Given the description of an element on the screen output the (x, y) to click on. 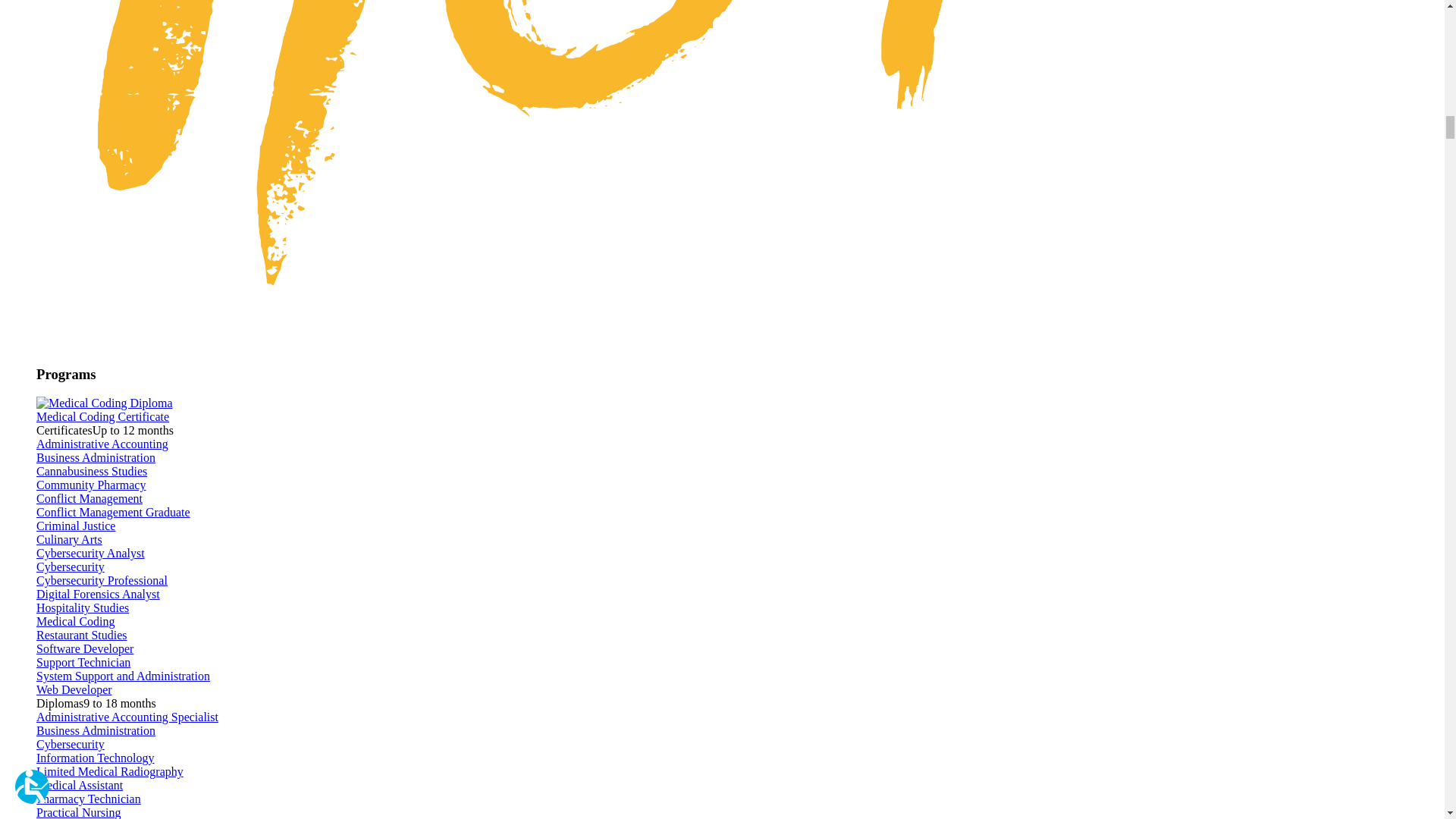
Cybersecurity Analyst Certificate (90, 553)
Business Administration (95, 730)
Culinary Arts (68, 539)
Criminal Justice (75, 525)
Business Administration Certificate (95, 457)
Digital Forensics Analyst (98, 594)
Administrative Accounting Certificate (102, 443)
Criminal Justice Certificate (75, 525)
Conflict Management Graduate (113, 512)
Medical Assistant (79, 784)
